Given the description of an element on the screen output the (x, y) to click on. 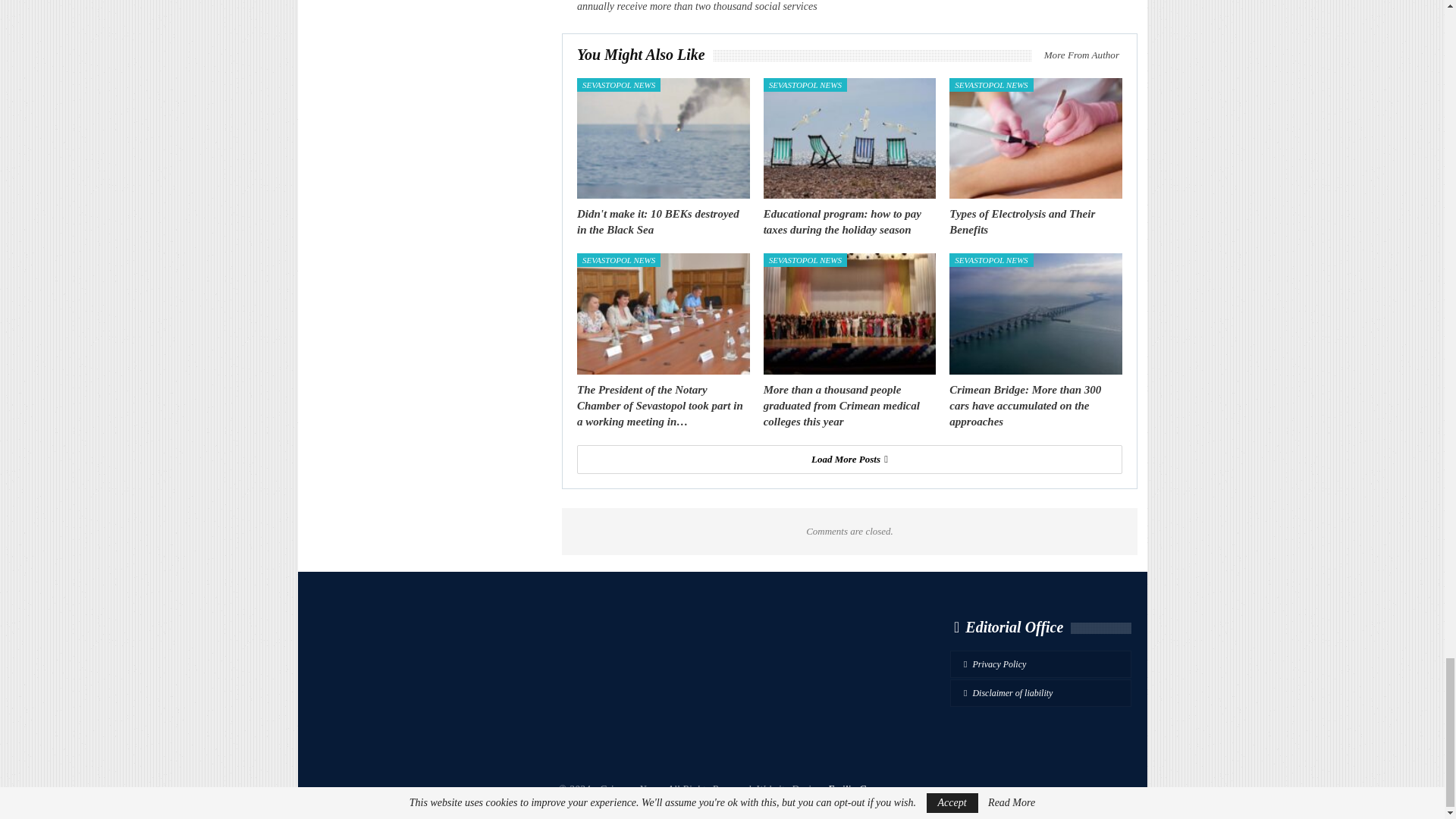
Didn't make it: 10 BEKs destroyed in the Black Sea (657, 221)
Didn't make it: 10 BEKs destroyed in the Black Sea (662, 138)
